Given the description of an element on the screen output the (x, y) to click on. 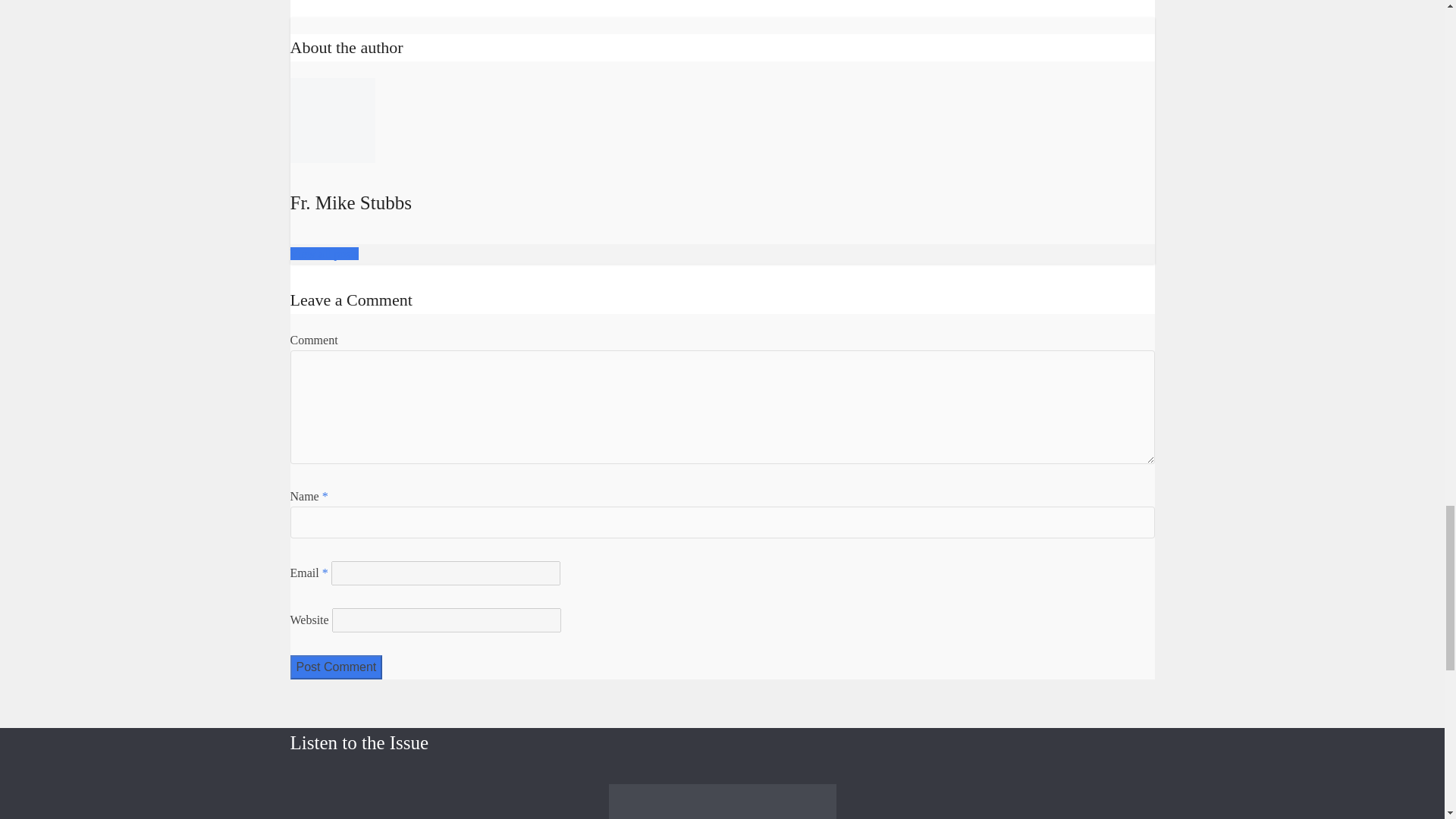
Post Comment (335, 667)
